Given the description of an element on the screen output the (x, y) to click on. 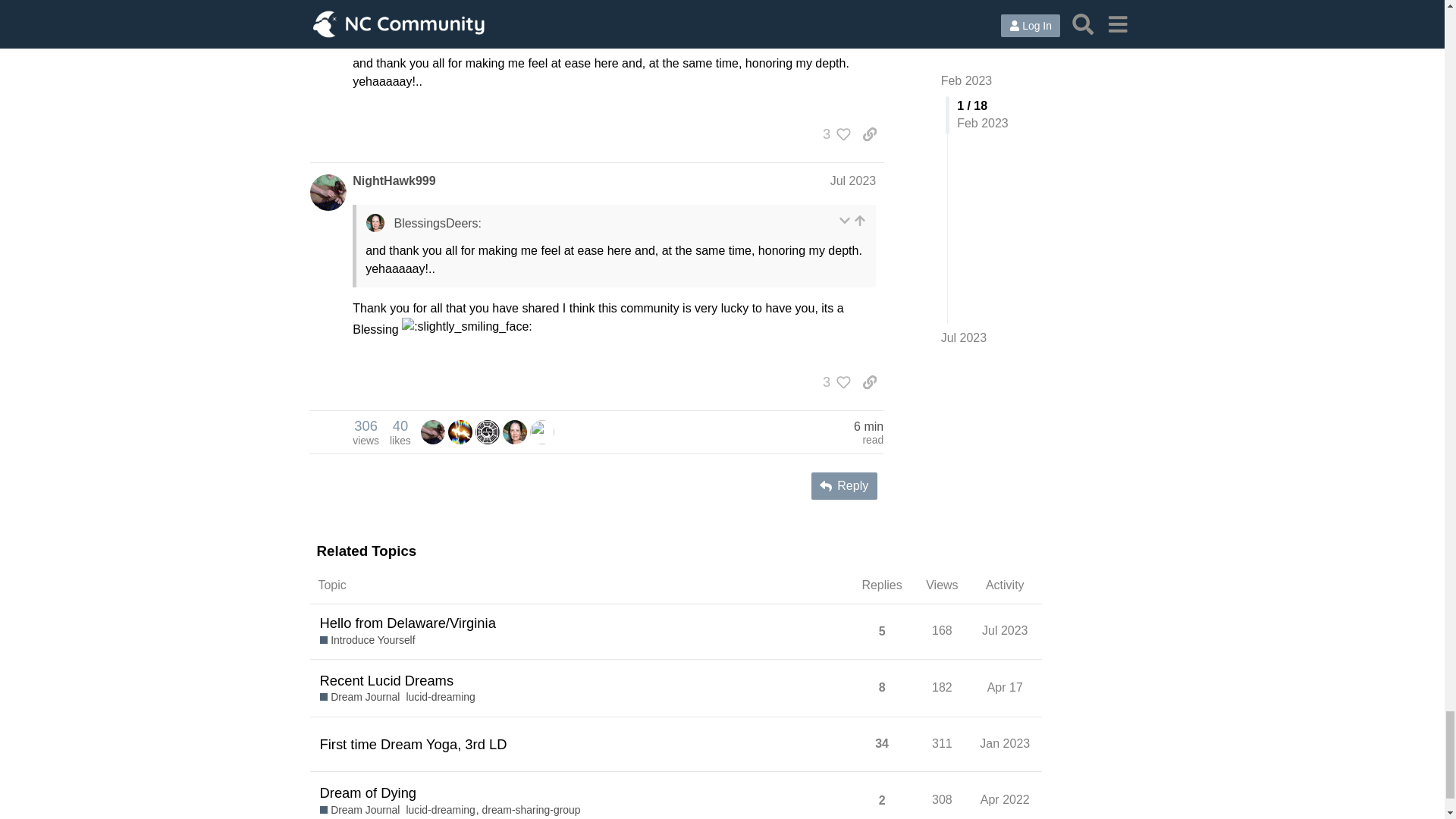
Amy Rittenhouse (541, 432)
BlessingsDeers (514, 431)
Matthew Bready (459, 432)
NightHawk999 (366, 431)
Vanda Pereira (432, 431)
mbready (514, 432)
DreamingFromHere (459, 431)
